Given the description of an element on the screen output the (x, y) to click on. 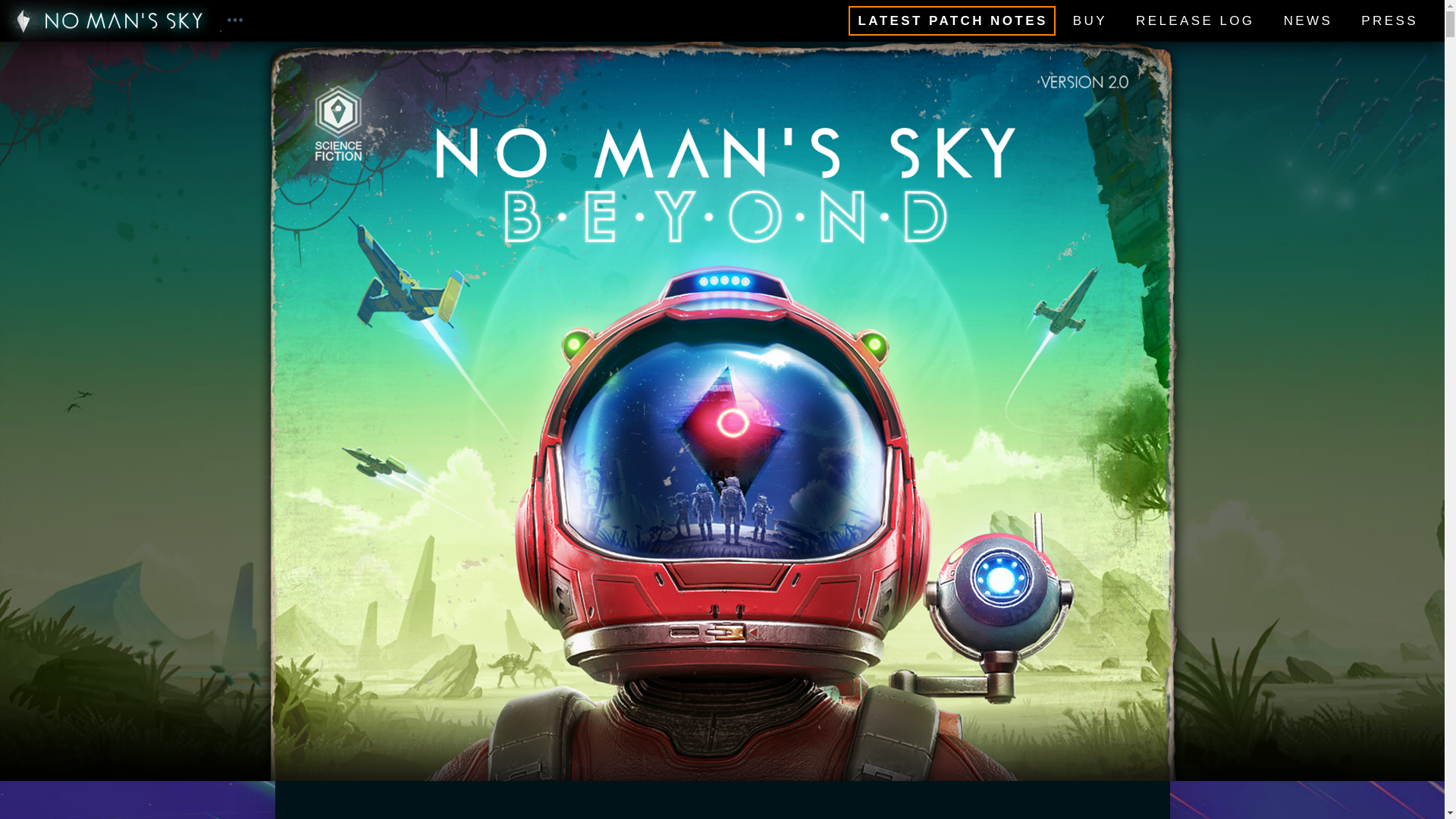
BUY (1089, 20)
PRESS (1389, 20)
RELEASE LOG (1194, 20)
LATEST PATCH NOTES (951, 20)
NEWS (1308, 20)
